Given the description of an element on the screen output the (x, y) to click on. 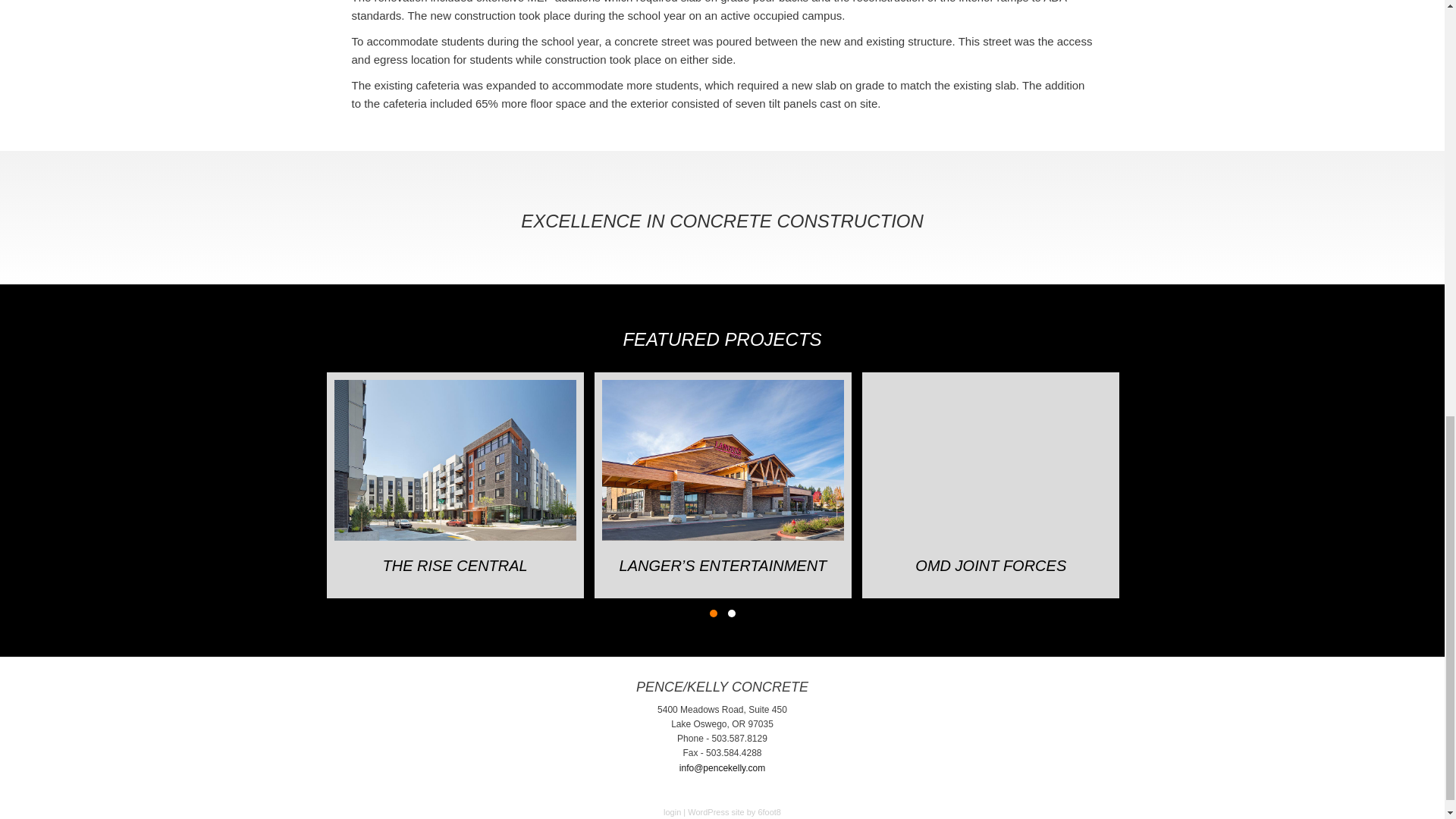
The Rise Central (455, 565)
The Rise Central (455, 460)
Slide group 2 (730, 613)
OMD JOINT FORCES (990, 565)
OMD Joint Forces (990, 460)
OMD Joint Forces (990, 565)
Slide group 1 (712, 613)
THE RISE CENTRAL (455, 565)
